Given the description of an element on the screen output the (x, y) to click on. 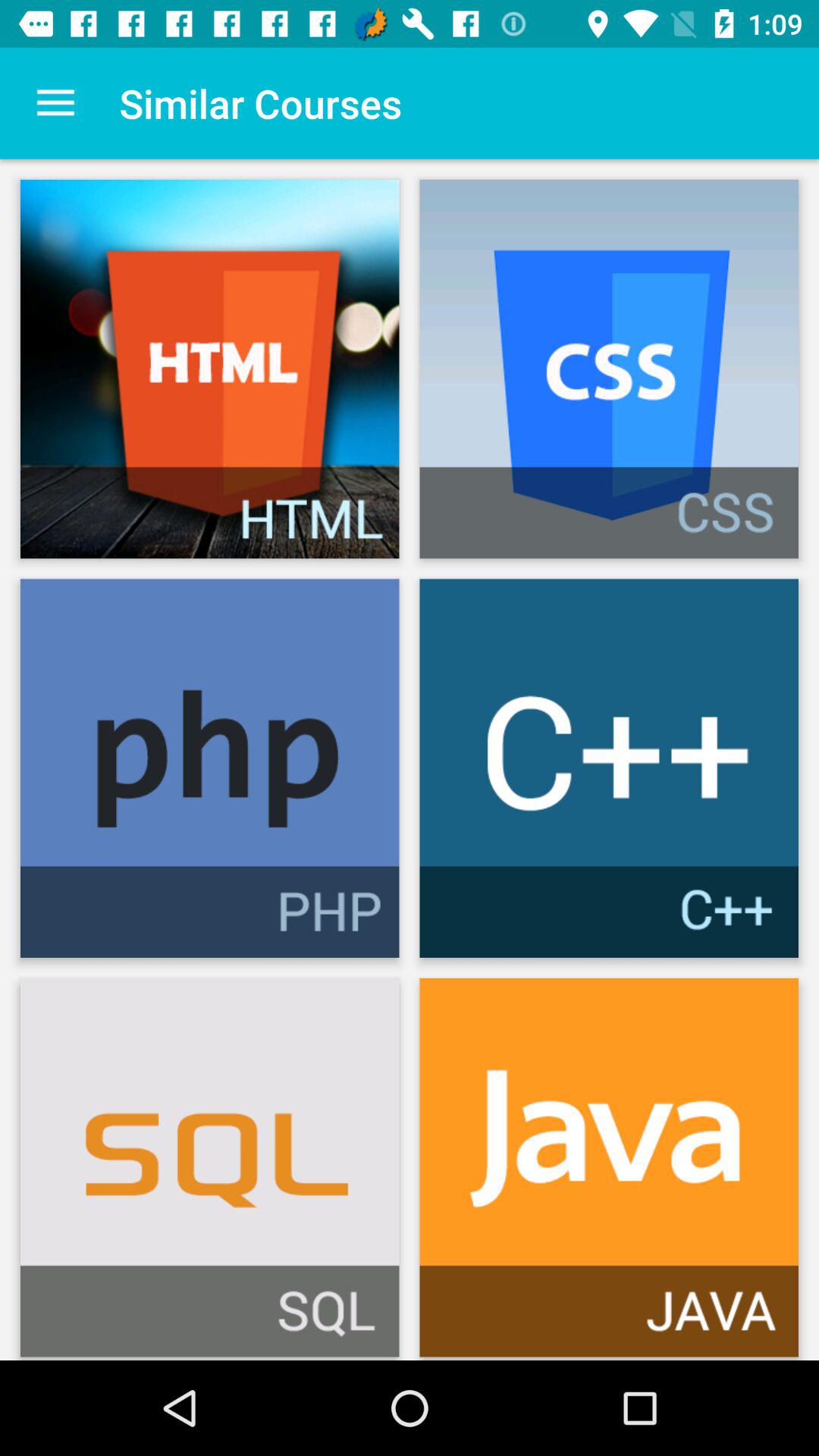
press the item to the left of the similar courses (55, 103)
